Given the description of an element on the screen output the (x, y) to click on. 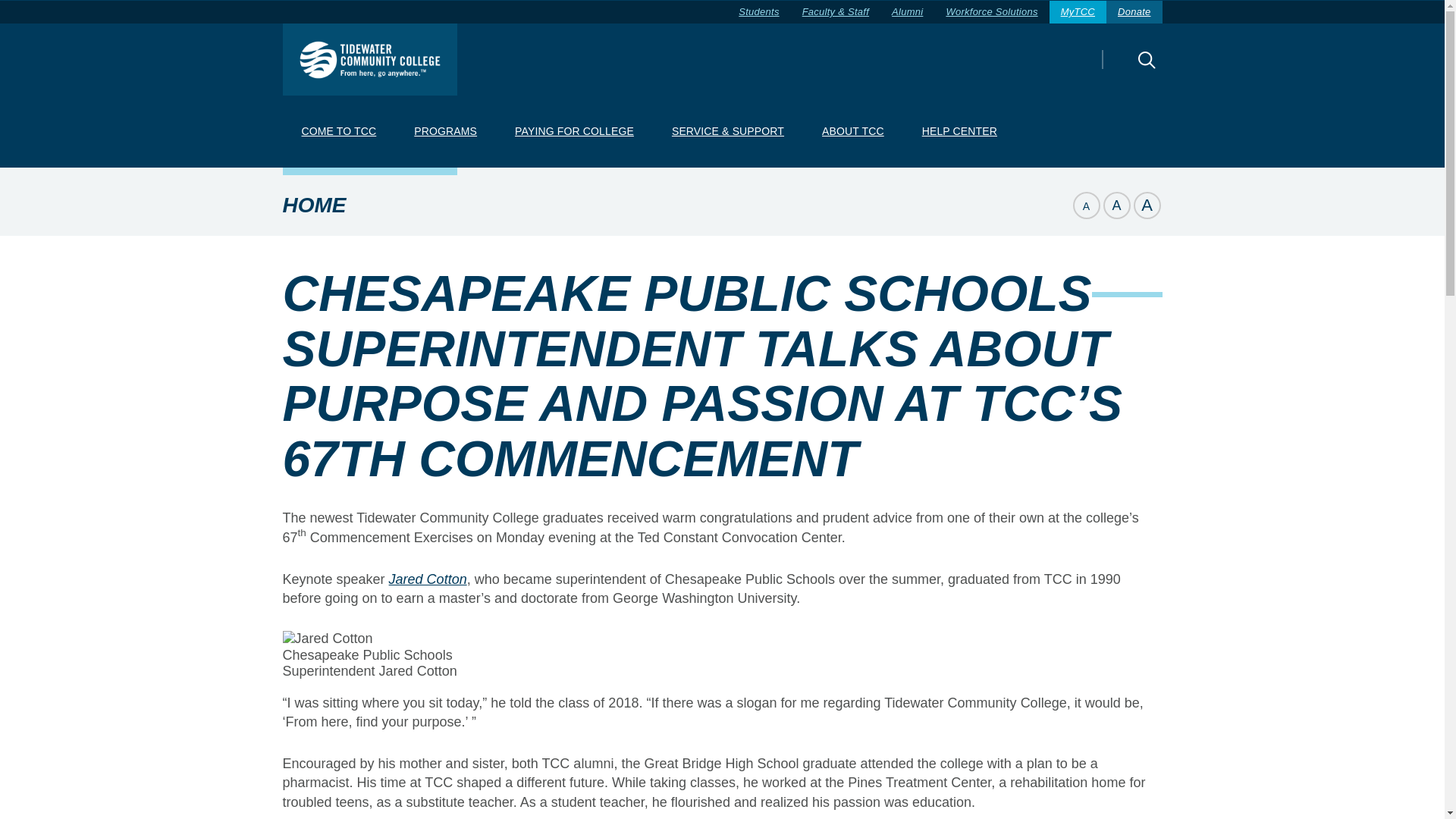
Set page copy to large size (1146, 205)
Set page copy to normal size (1115, 205)
COME TO TCC (338, 131)
Alumni (907, 11)
Donate (1133, 11)
PROGRAMS (445, 131)
MyTCC (1077, 11)
Workforce Solutions (991, 11)
Tidewater Community College (369, 59)
Set page copy to small size (1085, 205)
Students (758, 11)
Search (1119, 70)
